Given the description of an element on the screen output the (x, y) to click on. 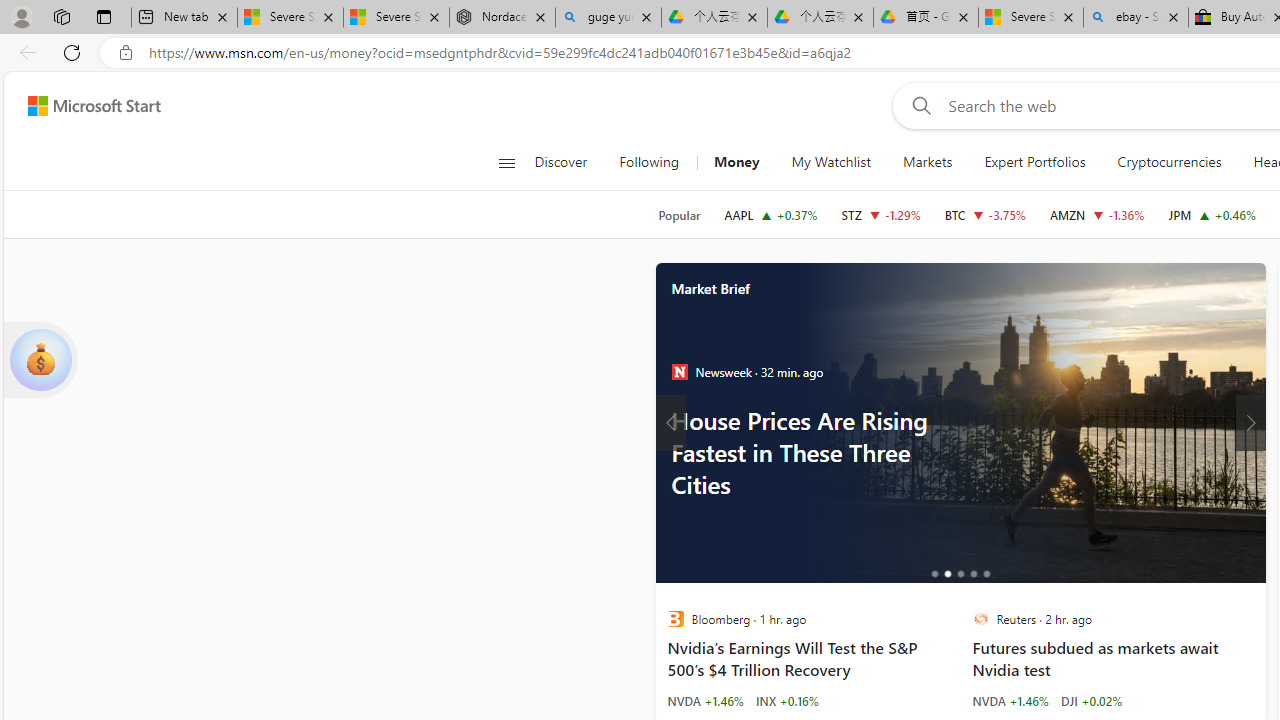
Web search (917, 105)
My Watchlist (830, 162)
Expert Portfolios (1034, 162)
INX +0.16% (787, 700)
Reuters (980, 619)
guge yunpan - Search (607, 17)
Skip to content (86, 105)
Money (736, 162)
New York City (1031, 422)
